Given the description of an element on the screen output the (x, y) to click on. 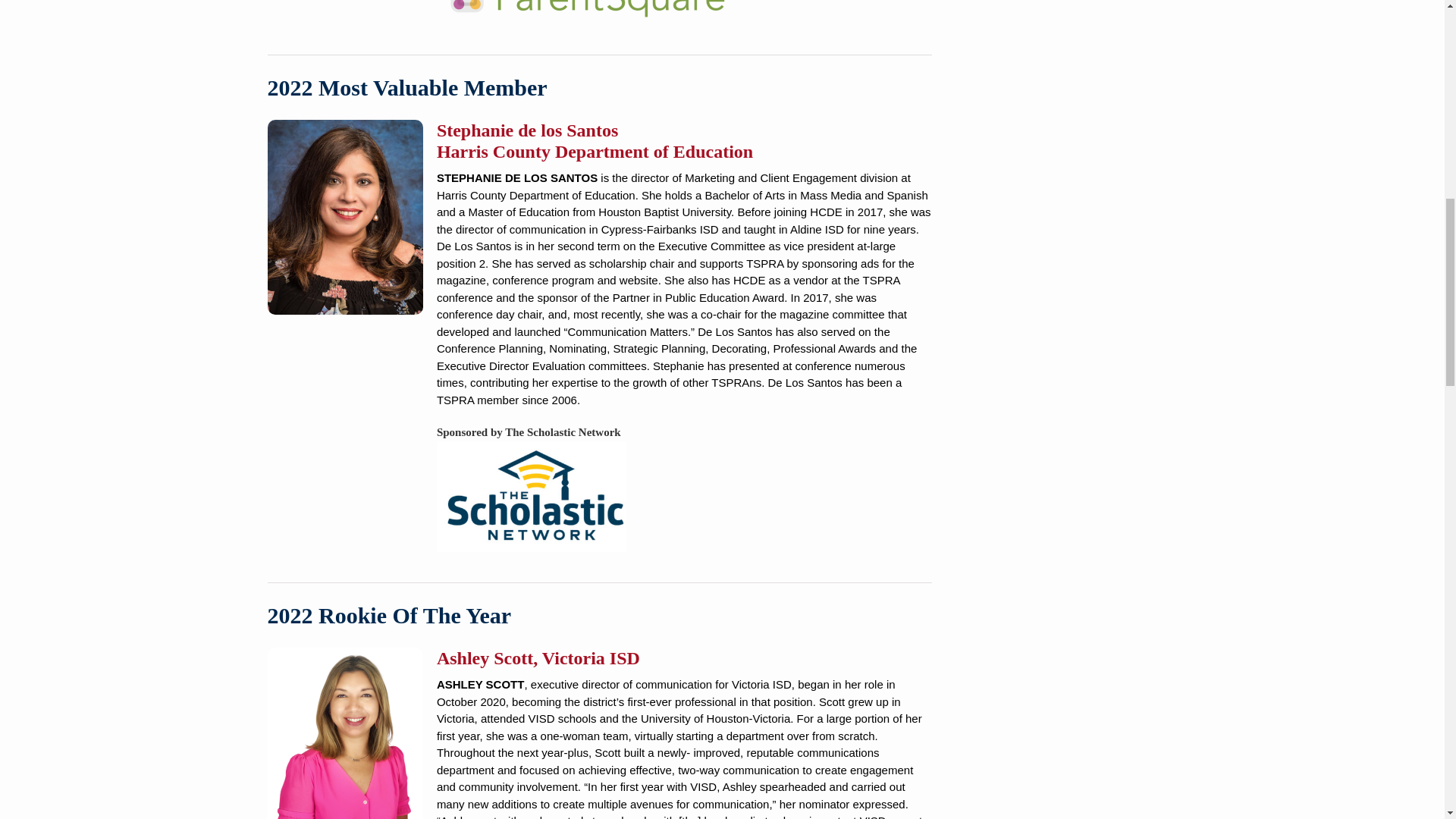
Ashley-Scott (344, 733)
The Scholastic Network (531, 496)
Parentsquare (587, 12)
